Given the description of an element on the screen output the (x, y) to click on. 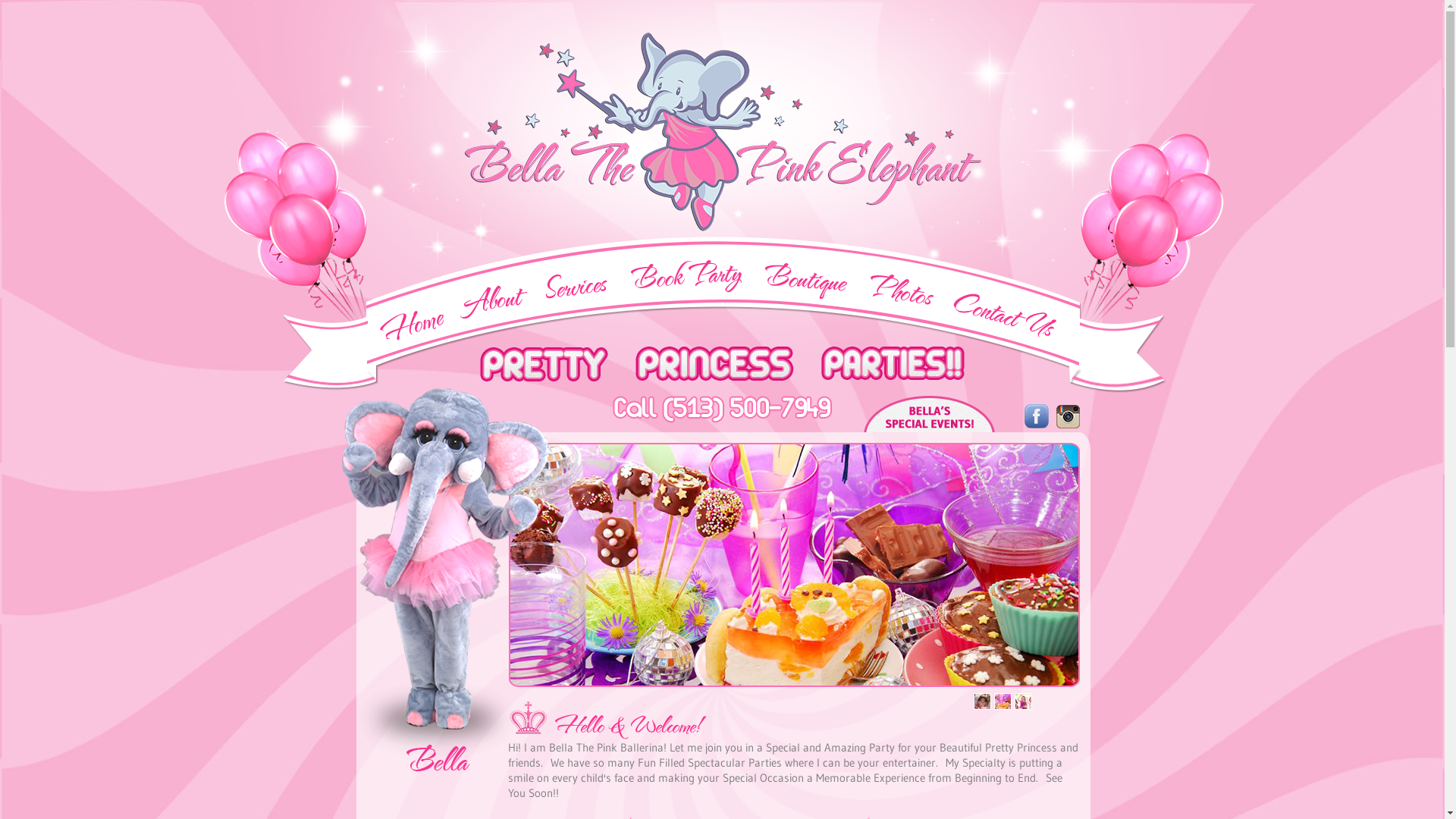
Home Element type: hover (411, 325)
Bella costume Element type: hover (445, 558)
about Element type: hover (493, 301)
Events Element type: hover (928, 413)
facebook Element type: hover (1036, 416)
Photos Element type: hover (902, 289)
Contact Us Element type: hover (1004, 315)
Services Element type: hover (576, 286)
Book Party Element type: hover (685, 276)
Store Element type: hover (805, 280)
Bella Logo Element type: hover (722, 131)
instagram Element type: hover (1067, 416)
